Given the description of an element on the screen output the (x, y) to click on. 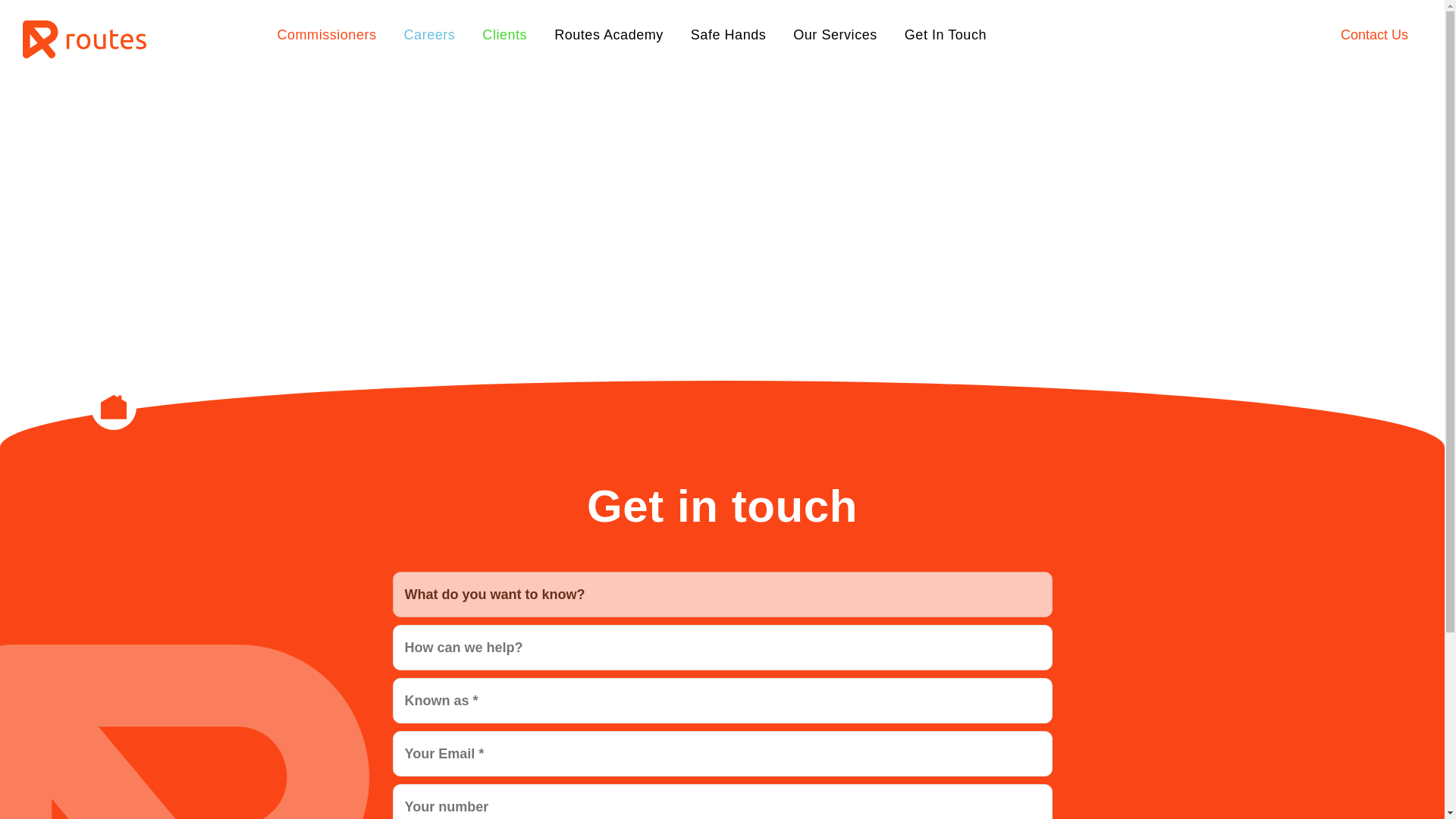
Safe Hands (727, 34)
Commissioners (327, 34)
Get In Touch (945, 34)
Contact Us (1324, 35)
Careers (429, 34)
Our Services (835, 34)
Routes Academy (608, 34)
Clients (504, 34)
